Given the description of an element on the screen output the (x, y) to click on. 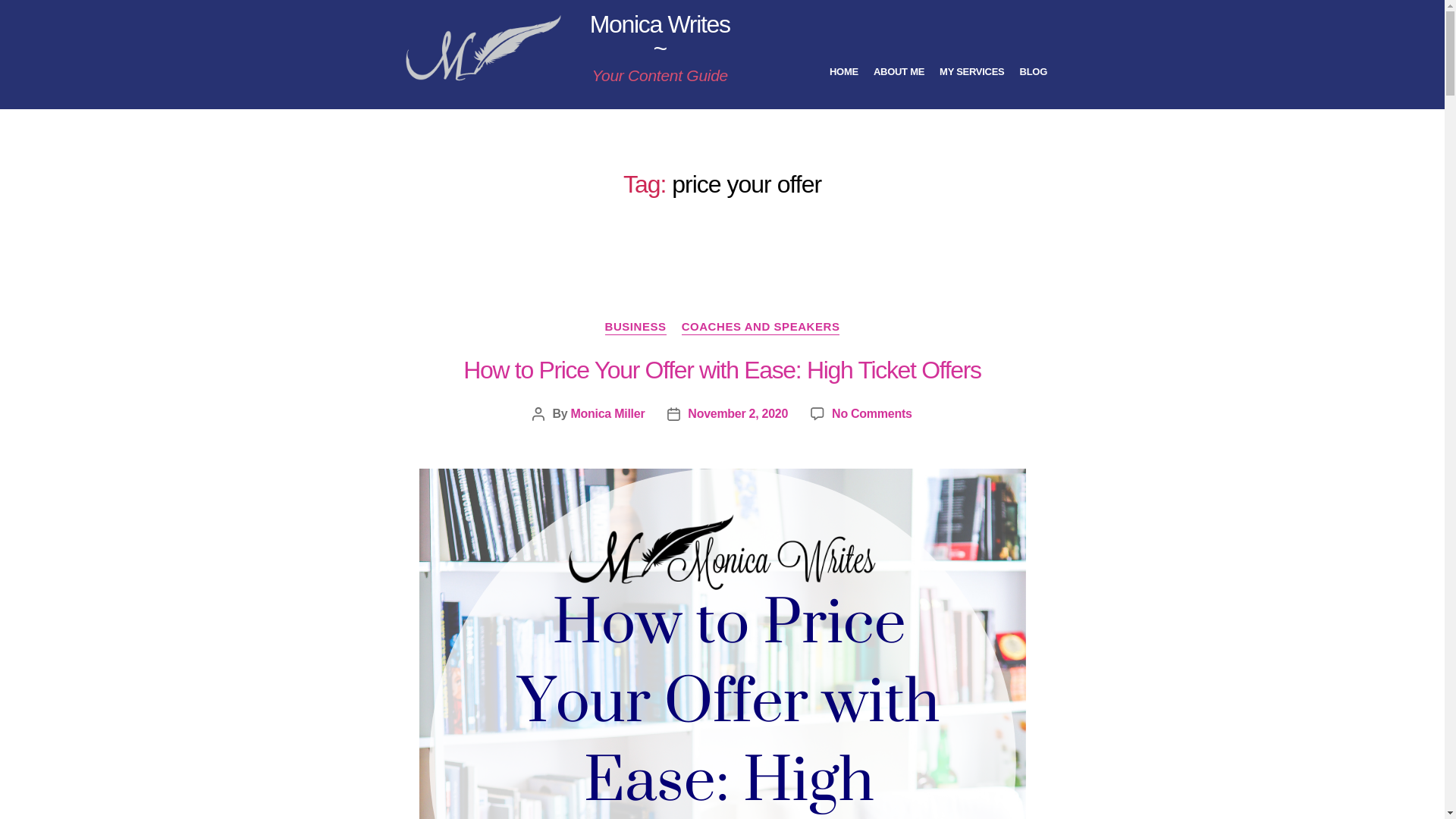
MY SERVICES (971, 71)
HOME (844, 71)
Monica Miller (607, 413)
BLOG (1032, 71)
November 2, 2020 (737, 413)
How to Price Your Offer with Ease: High Ticket Offers (721, 370)
No Comments (871, 413)
COACHES AND SPEAKERS (760, 327)
BUSINESS (635, 327)
ABOUT ME (898, 71)
